Given the description of an element on the screen output the (x, y) to click on. 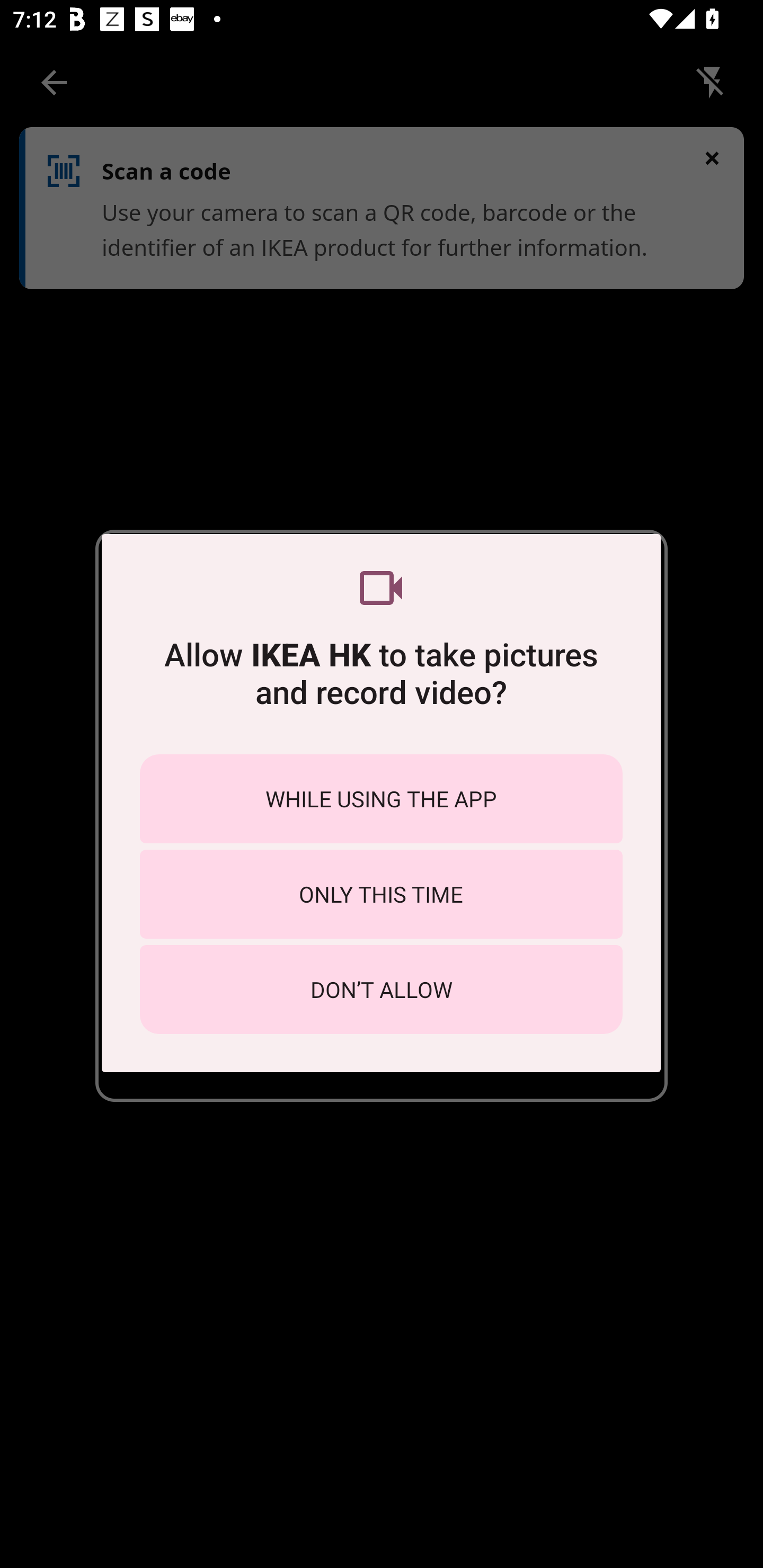
WHILE USING THE APP (380, 798)
ONLY THIS TIME (380, 894)
DON’T ALLOW (380, 989)
